Given the description of an element on the screen output the (x, y) to click on. 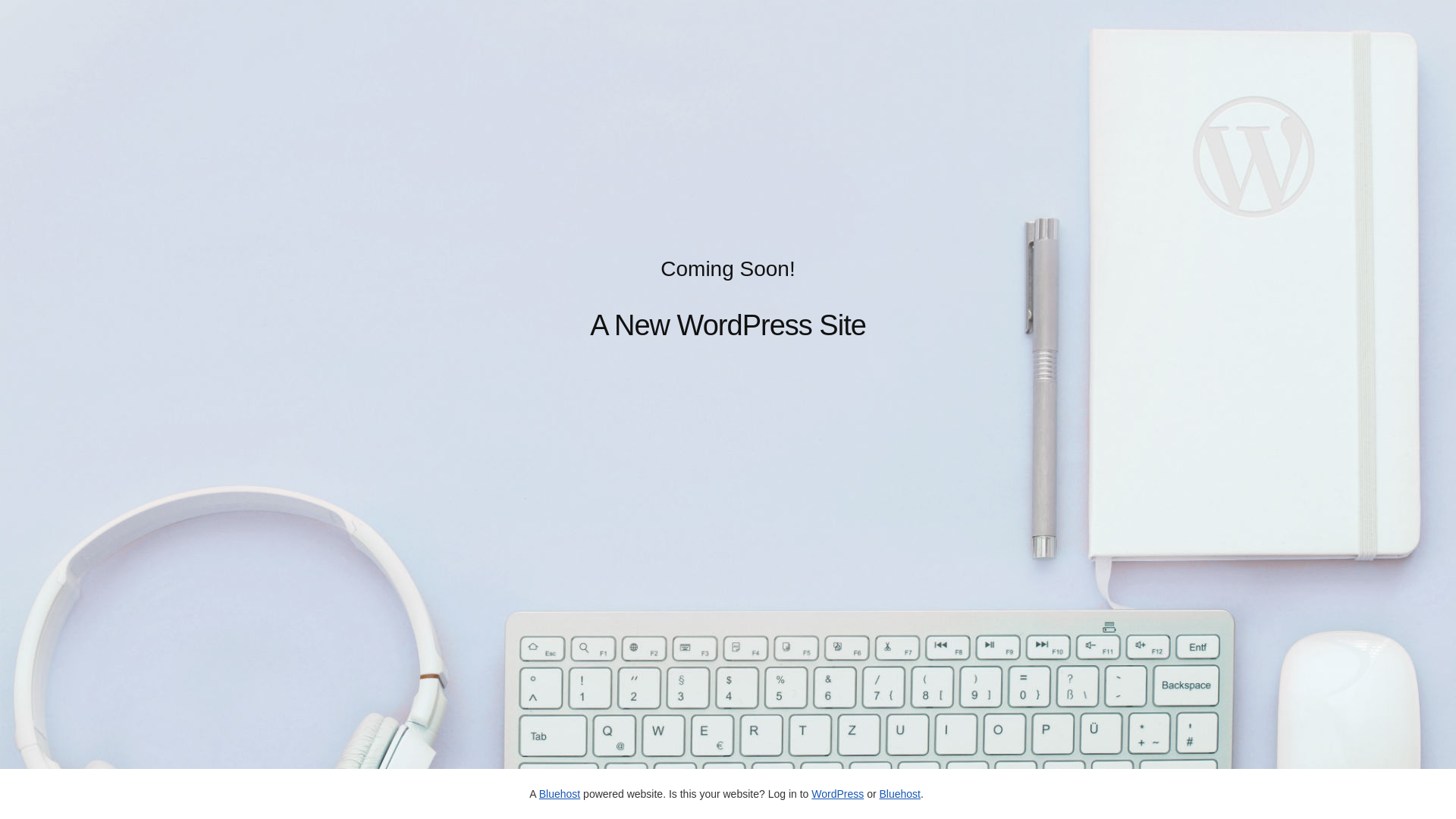
Bluehost Element type: text (898, 793)
Bluehost Element type: text (559, 793)
WordPress Element type: text (837, 793)
